Given the description of an element on the screen output the (x, y) to click on. 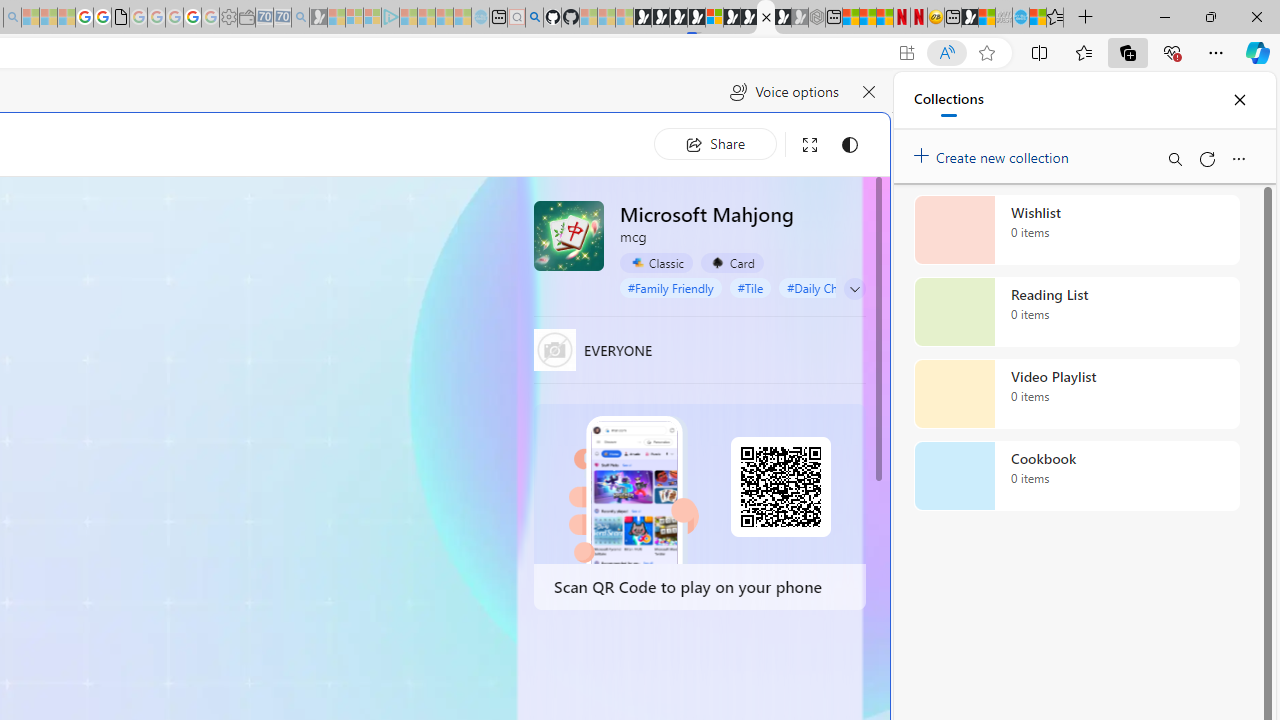
Voice options (783, 92)
Play Cave FRVR in your browser | Games from Microsoft Start (343, 426)
Sign in to your account (714, 17)
Home | Sky Blue Bikes - Sky Blue Bikes - Sleeping (480, 17)
Tabs you've opened (276, 265)
Share (715, 143)
Wishlist collection, 0 items (1076, 229)
Class: expand-arrow neutral (854, 288)
Classic (656, 263)
Full screen (810, 144)
